Given the description of an element on the screen output the (x, y) to click on. 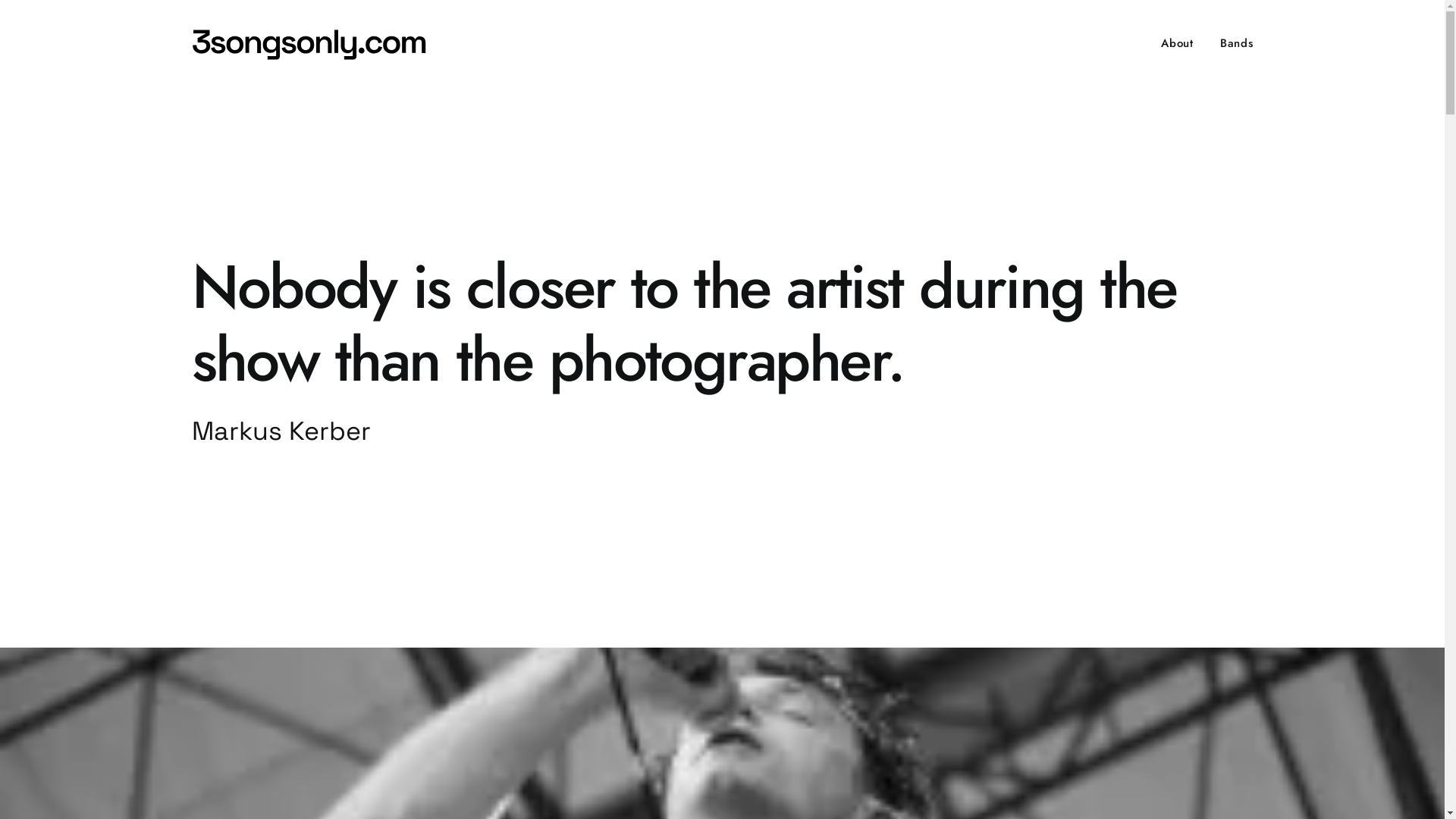
Bands Element type: text (1231, 43)
About Element type: text (1182, 43)
